Given the description of an element on the screen output the (x, y) to click on. 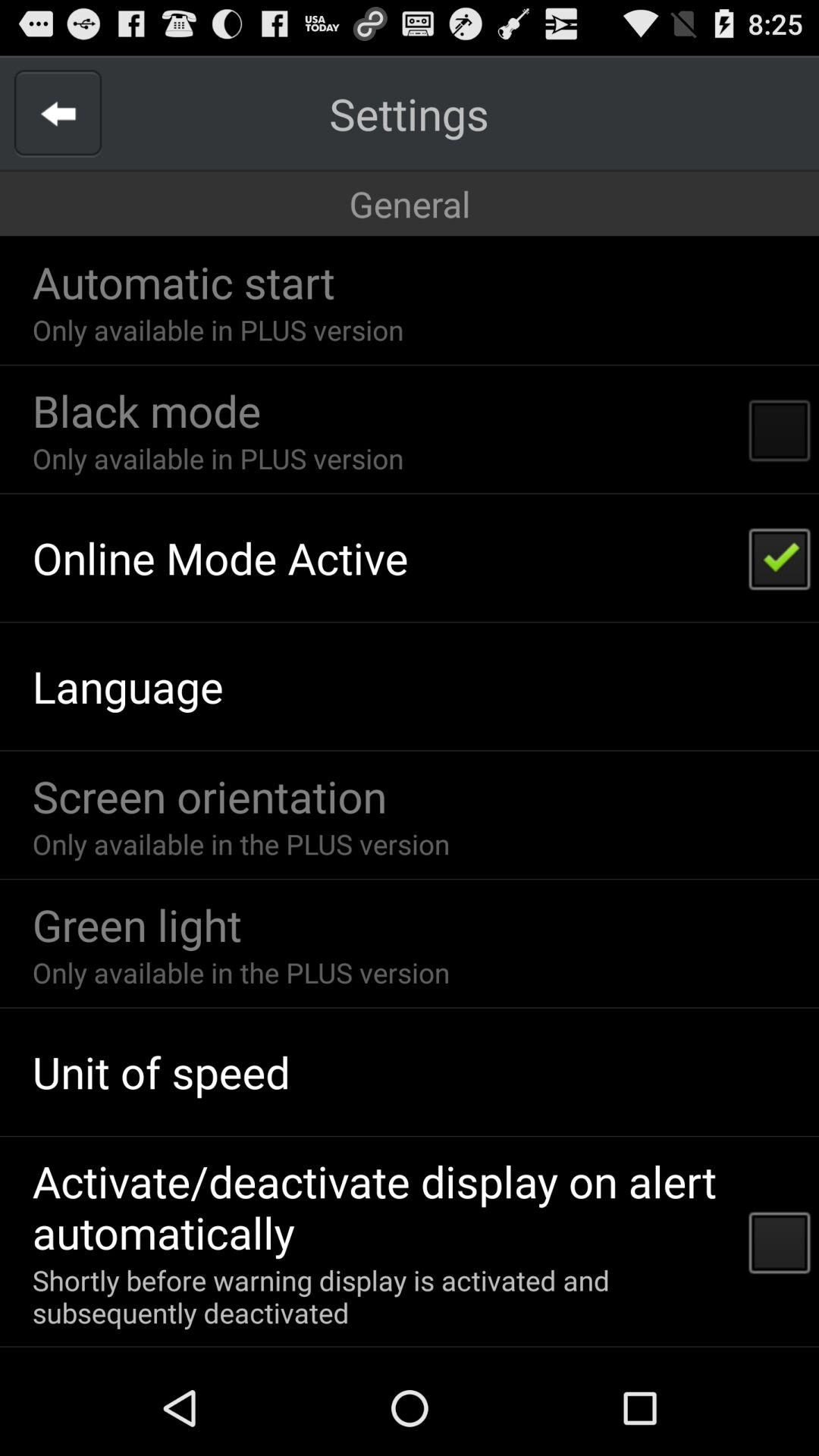
jump until the automatic start (183, 281)
